Given the description of an element on the screen output the (x, y) to click on. 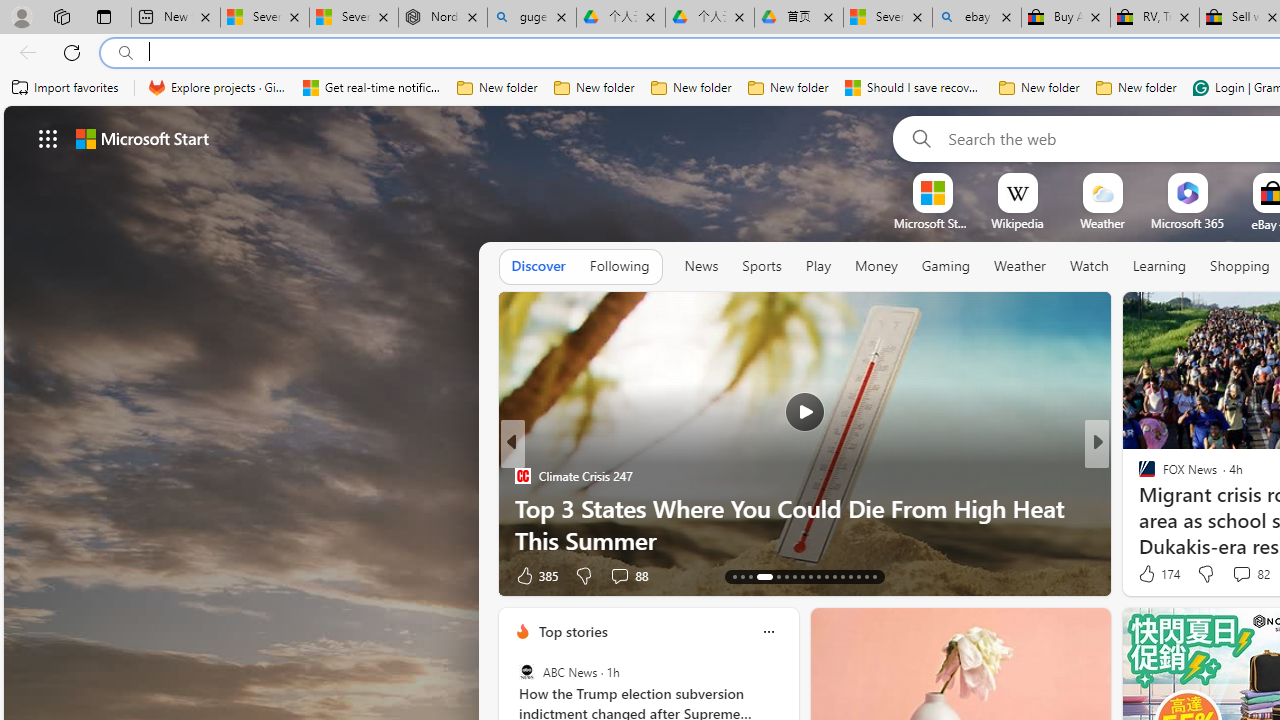
AutomationID: tab-23 (825, 576)
AutomationID: tab-18 (786, 576)
AutomationID: tab-21 (810, 576)
Like (1140, 574)
AutomationID: tab-27 (857, 576)
Should I save recovered Word documents? - Microsoft Support (913, 88)
View comments 88 Comment (619, 575)
23 Like (1149, 574)
